Given the description of an element on the screen output the (x, y) to click on. 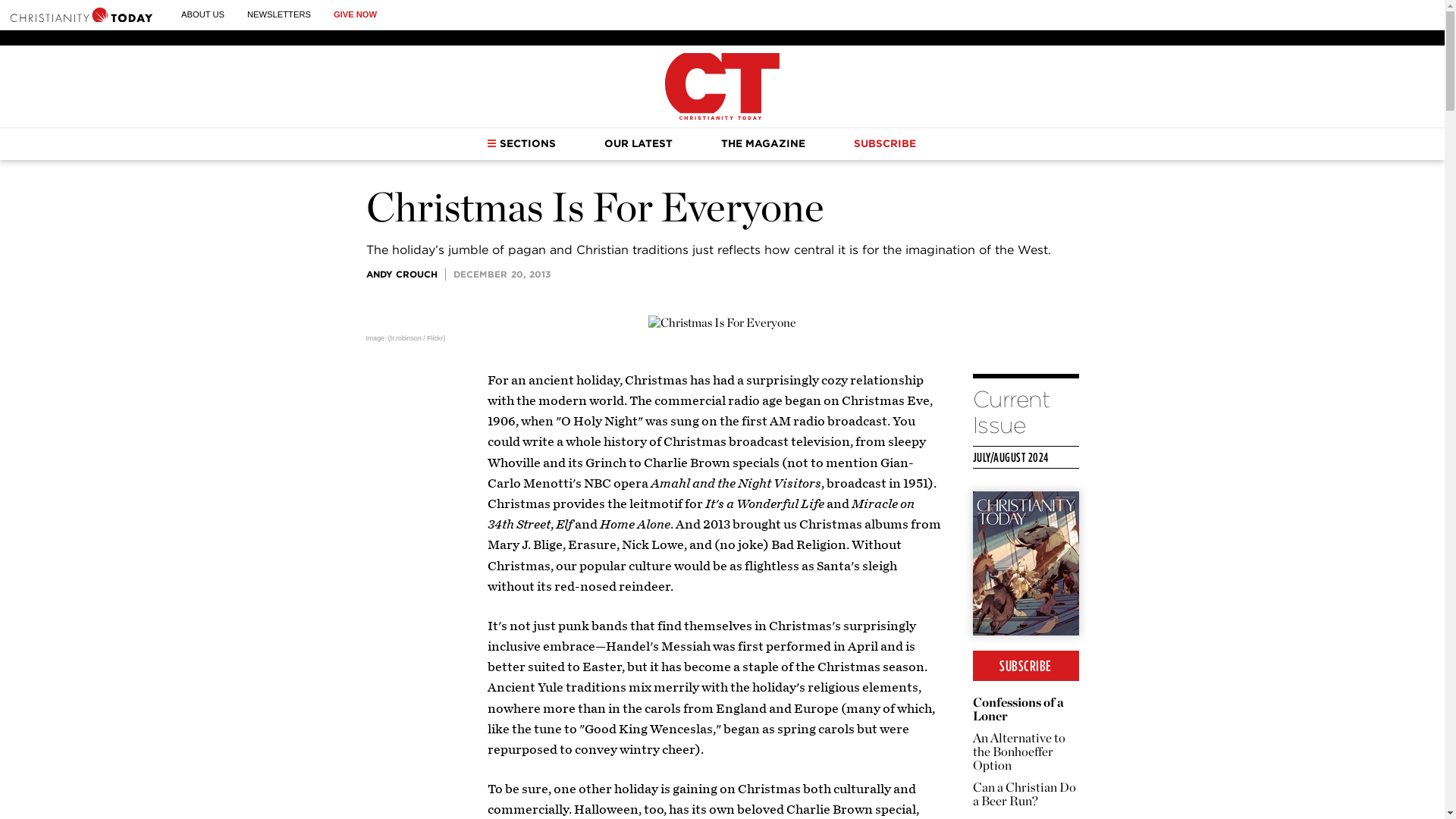
NEWSLETTERS (278, 14)
Christianity Today (721, 86)
GIVE NOW (355, 14)
ABOUT US (202, 14)
SECTIONS (521, 143)
Christianity Today (81, 14)
Sections Dropdown (491, 143)
Christmas Is For Everyone (721, 323)
